Given the description of an element on the screen output the (x, y) to click on. 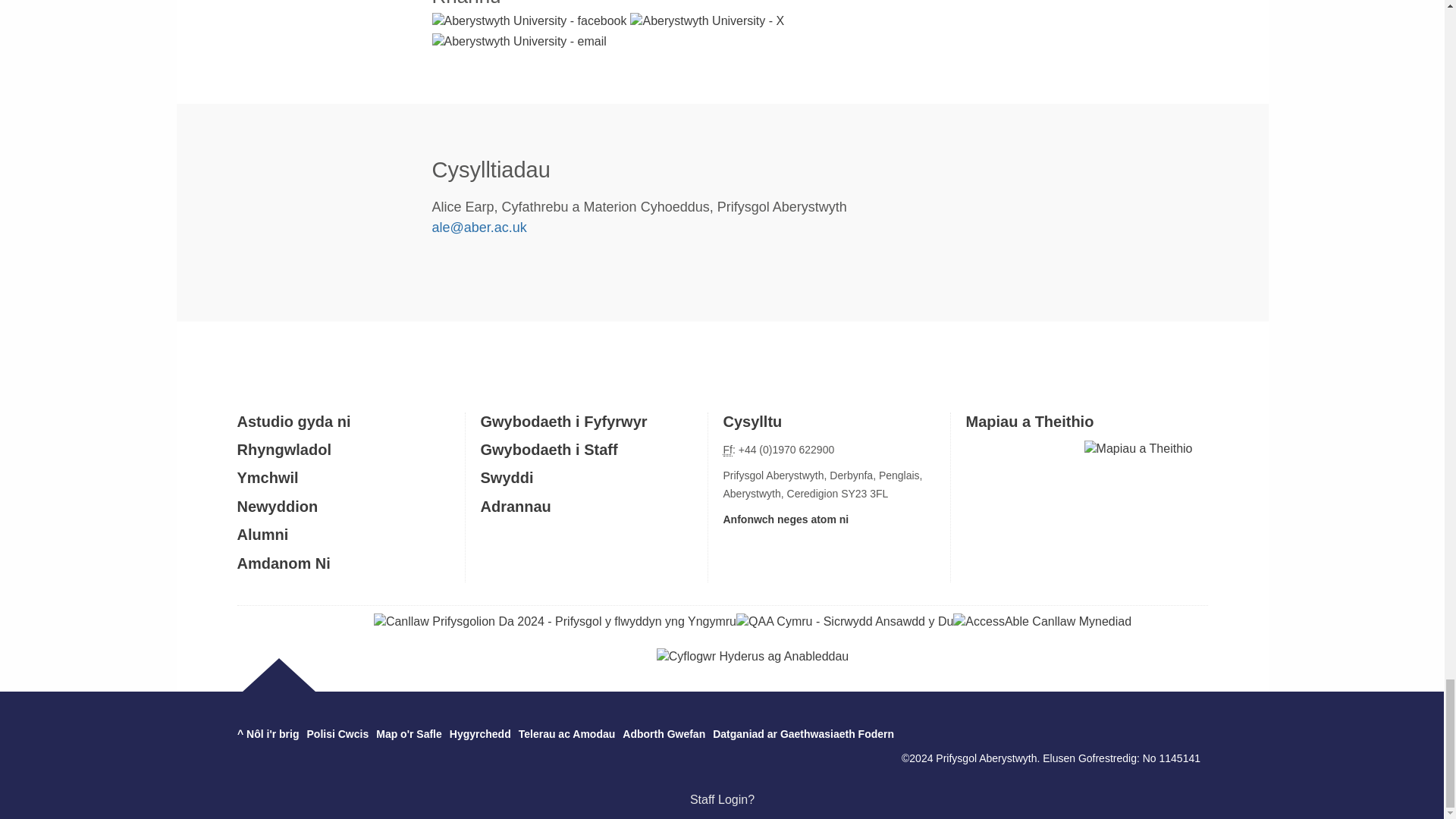
Telephone (727, 449)
Datganiad ar Gaethwasiaeth Fodern (803, 734)
Map testun y wefan hon. (408, 734)
Anfon adborth i ni ar y wefan hon. (663, 734)
Polisi Cwci (338, 734)
Hygyrchedd (480, 734)
